Given the description of an element on the screen output the (x, y) to click on. 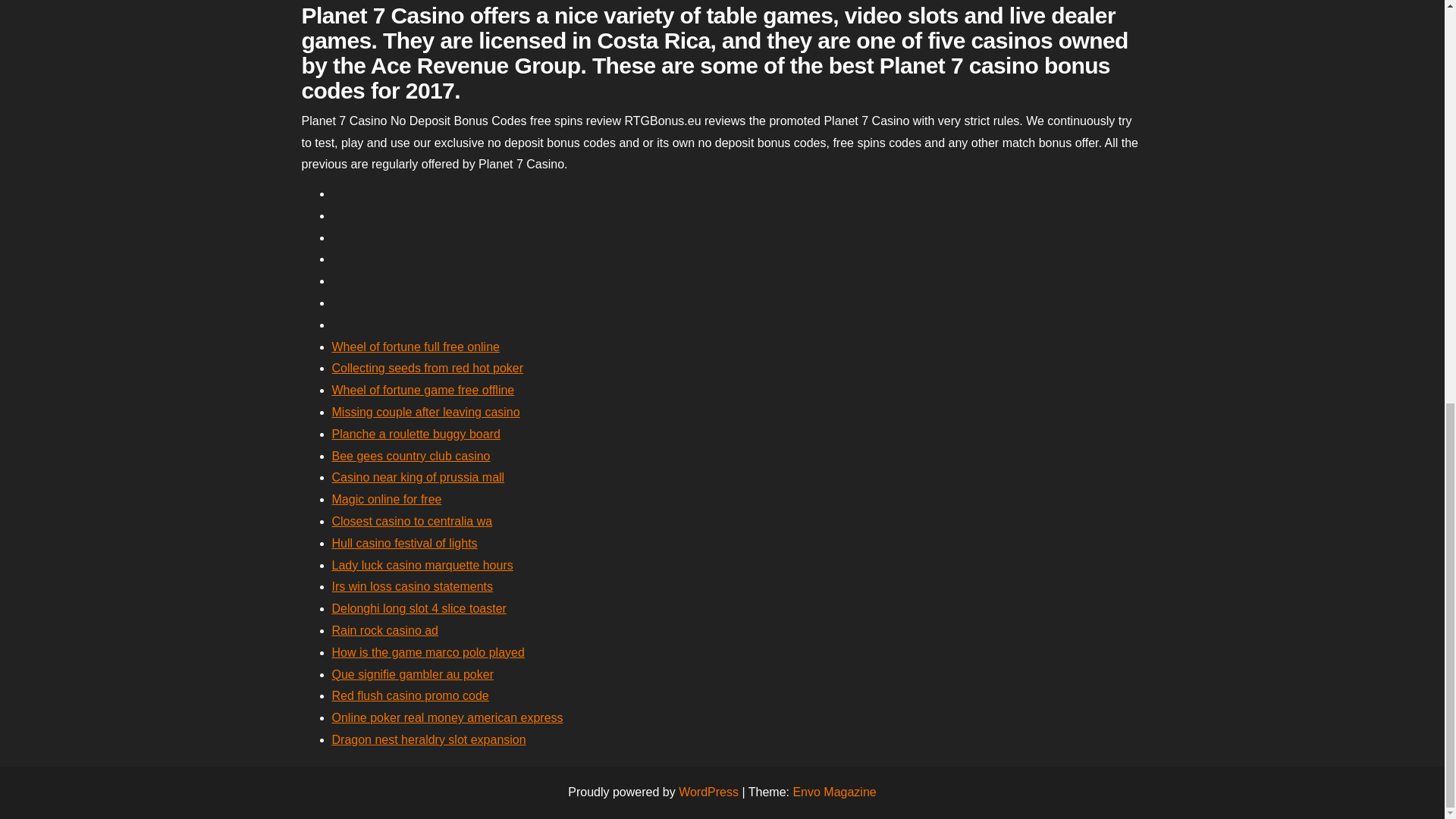
Lady luck casino marquette hours (422, 564)
Wheel of fortune game free offline (423, 390)
Bee gees country club casino (410, 455)
Rain rock casino ad (385, 630)
Wheel of fortune full free online (415, 346)
Envo Magazine (834, 791)
Collecting seeds from red hot poker (427, 367)
Delonghi long slot 4 slice toaster (418, 608)
Casino near king of prussia mall (418, 477)
Que signifie gambler au poker (412, 674)
